Given the description of an element on the screen output the (x, y) to click on. 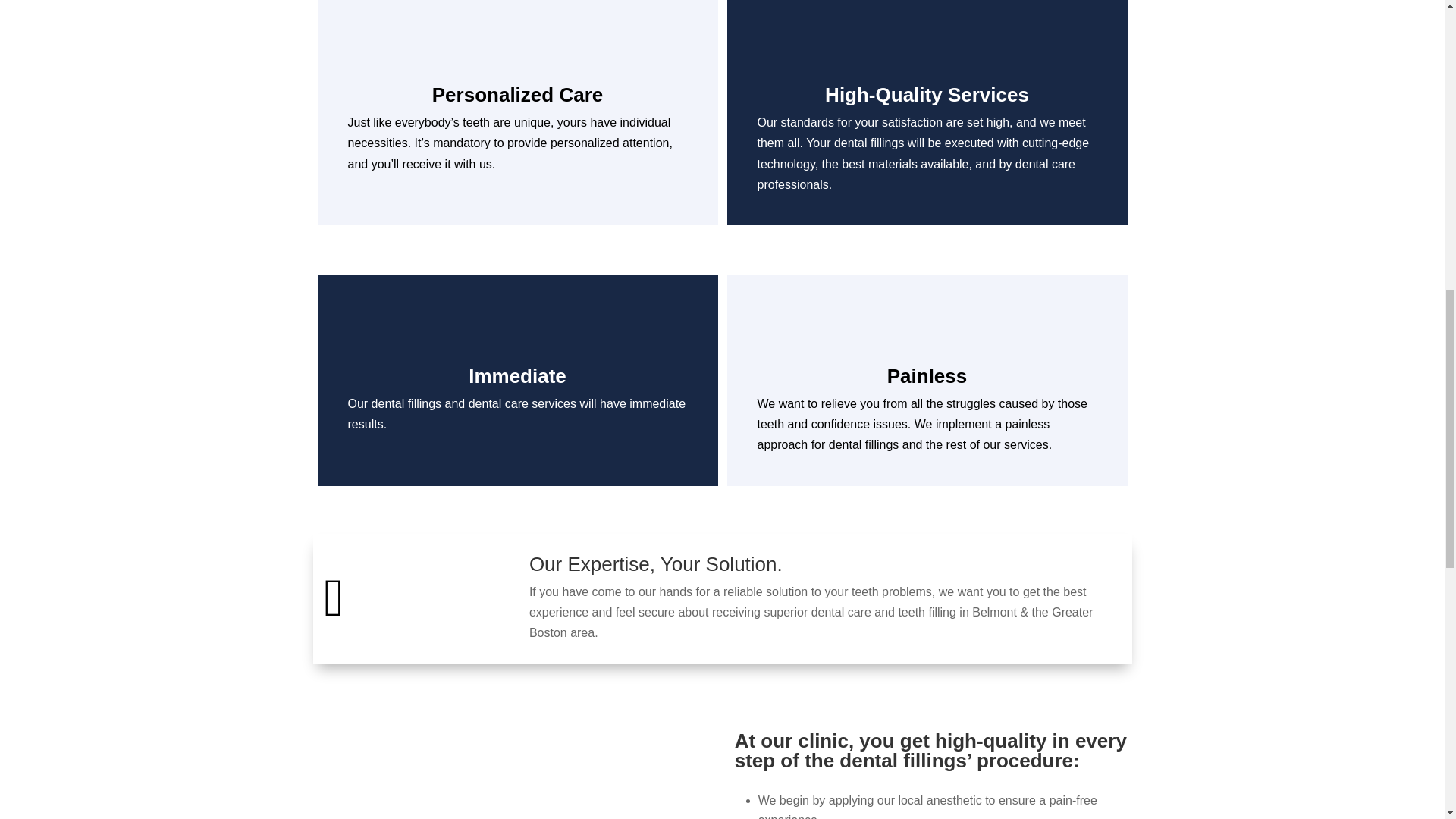
Dental Fillings procedure (511, 762)
